Given the description of an element on the screen output the (x, y) to click on. 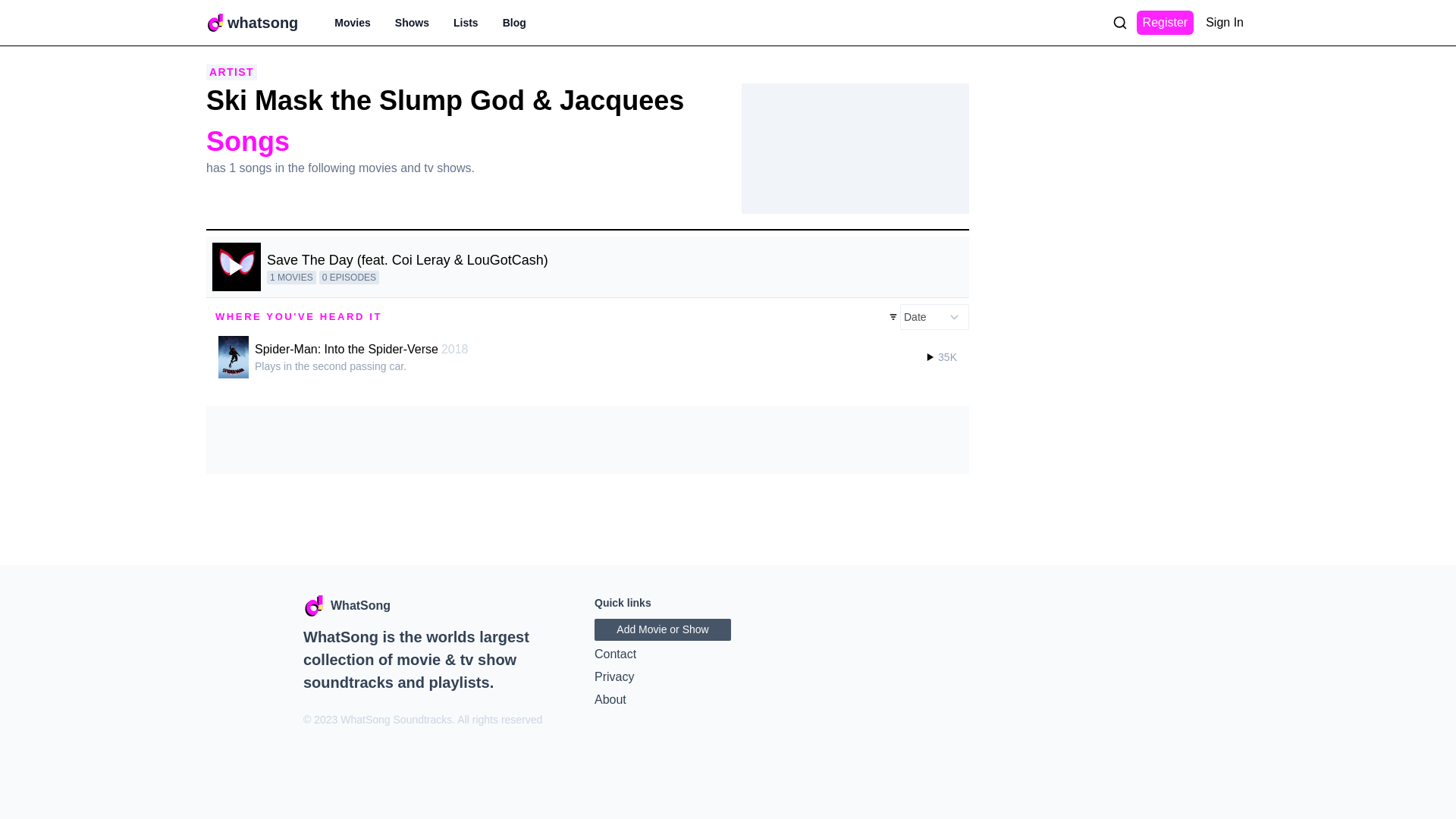
Sign In (1224, 22)
Blog (514, 23)
Spider-Man: Into the Spider-Verse2018 (362, 348)
Contact (727, 654)
About (727, 700)
Privacy (727, 677)
whatsong (262, 22)
Add Movie or Show (662, 629)
Register (1165, 22)
